Given the description of an element on the screen output the (x, y) to click on. 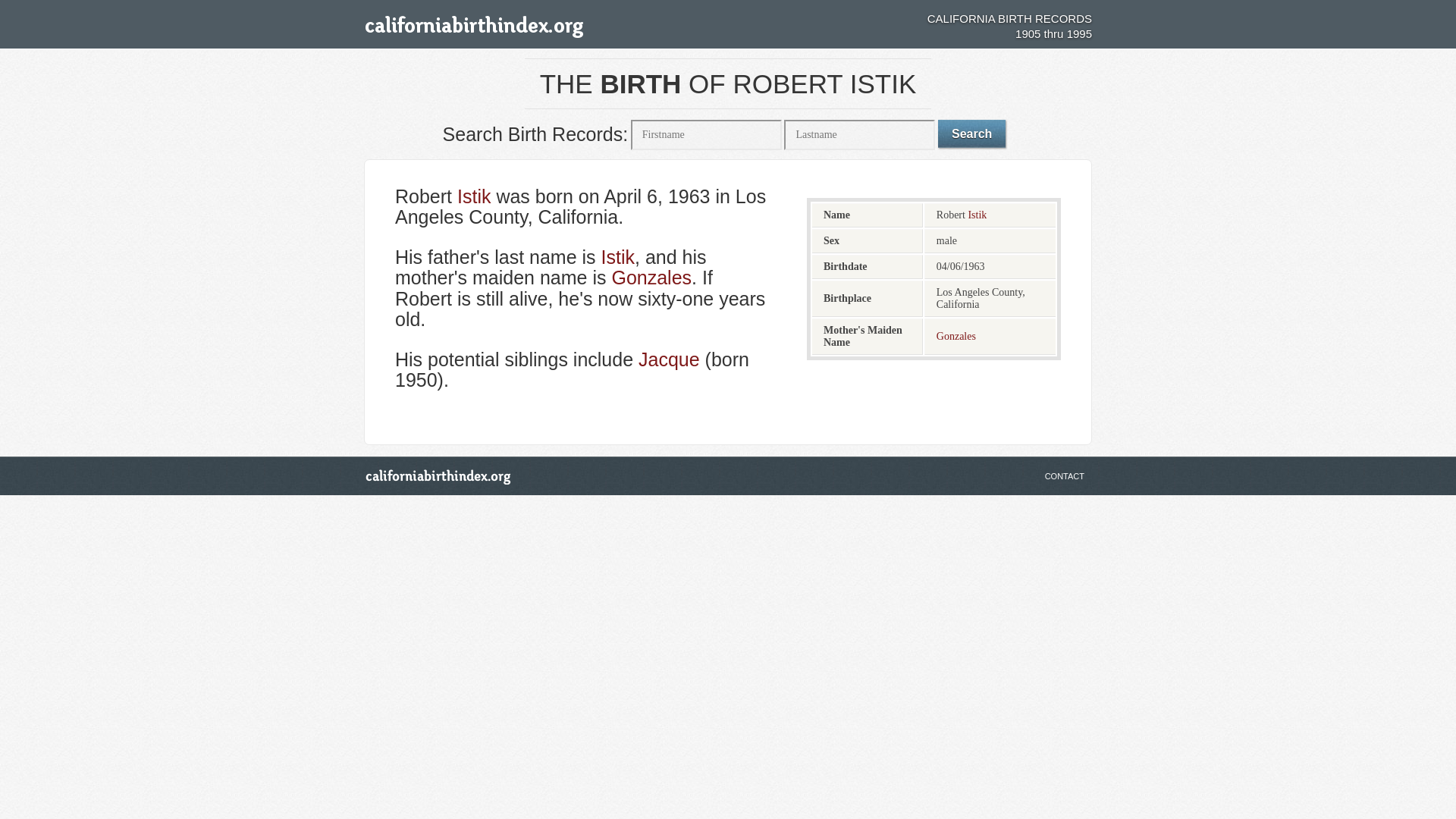
Istik (617, 255)
CONTACT (1064, 475)
Search (971, 133)
Istik (977, 214)
Istik (473, 195)
Search (971, 133)
Gonzales (651, 277)
Gonzales (955, 336)
Jacque (669, 359)
